Given the description of an element on the screen output the (x, y) to click on. 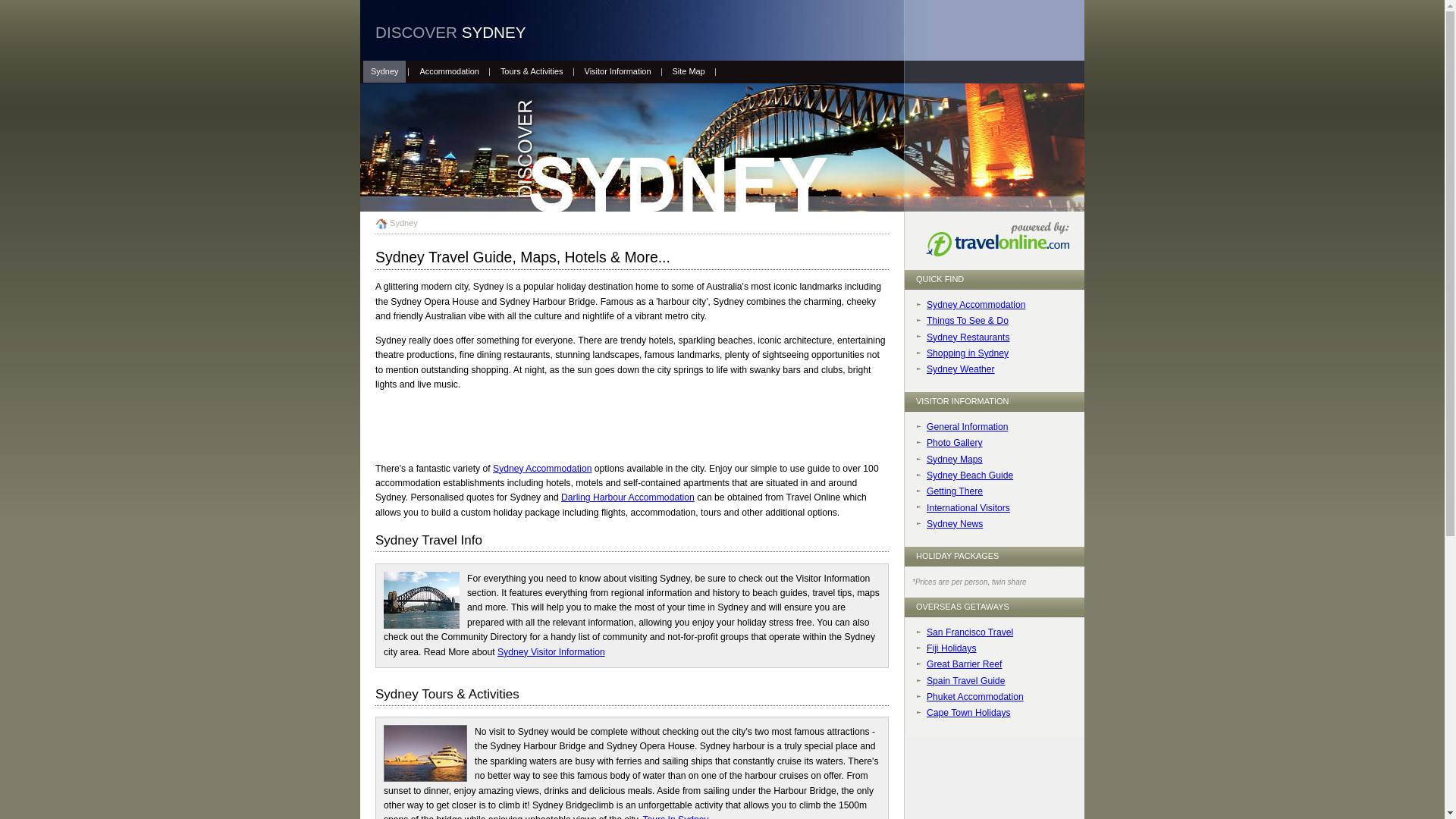
Photo Gallery Element type: text (954, 442)
Advertisement Element type: hover (602, 424)
Site Map Element type: text (688, 71)
Sydney Accommodation Element type: text (541, 468)
Sydney News Element type: text (954, 523)
Sydney Visitor Information Element type: text (551, 651)
Spain Travel Guide Element type: text (965, 680)
Sydney Maps Element type: text (954, 459)
Darling Harbour Accommodation Element type: text (627, 497)
Sydney Beach Guide Element type: text (969, 475)
Sydney Element type: text (396, 222)
Shopping in Sydney Element type: text (967, 353)
Getting There Element type: text (954, 491)
Fiji Holidays Element type: text (951, 648)
International Visitors Element type: text (968, 507)
Visitor Information Element type: text (617, 71)
General Information Element type: text (966, 426)
Things To See & Do Element type: text (967, 320)
Accommodation Element type: text (448, 71)
Cape Town Holidays Element type: text (968, 712)
Sydney Accommodation Element type: text (975, 304)
Tours & Activities Element type: text (531, 71)
Phuket Accommodation Element type: text (974, 696)
Great Barrier Reef Element type: text (963, 663)
Sydney Restaurants Element type: text (967, 337)
DISCOVER SYDNEY Element type: text (450, 31)
Sydney Element type: text (384, 71)
San Francisco Travel Element type: text (969, 632)
Sydney Weather Element type: text (960, 369)
